Given the description of an element on the screen output the (x, y) to click on. 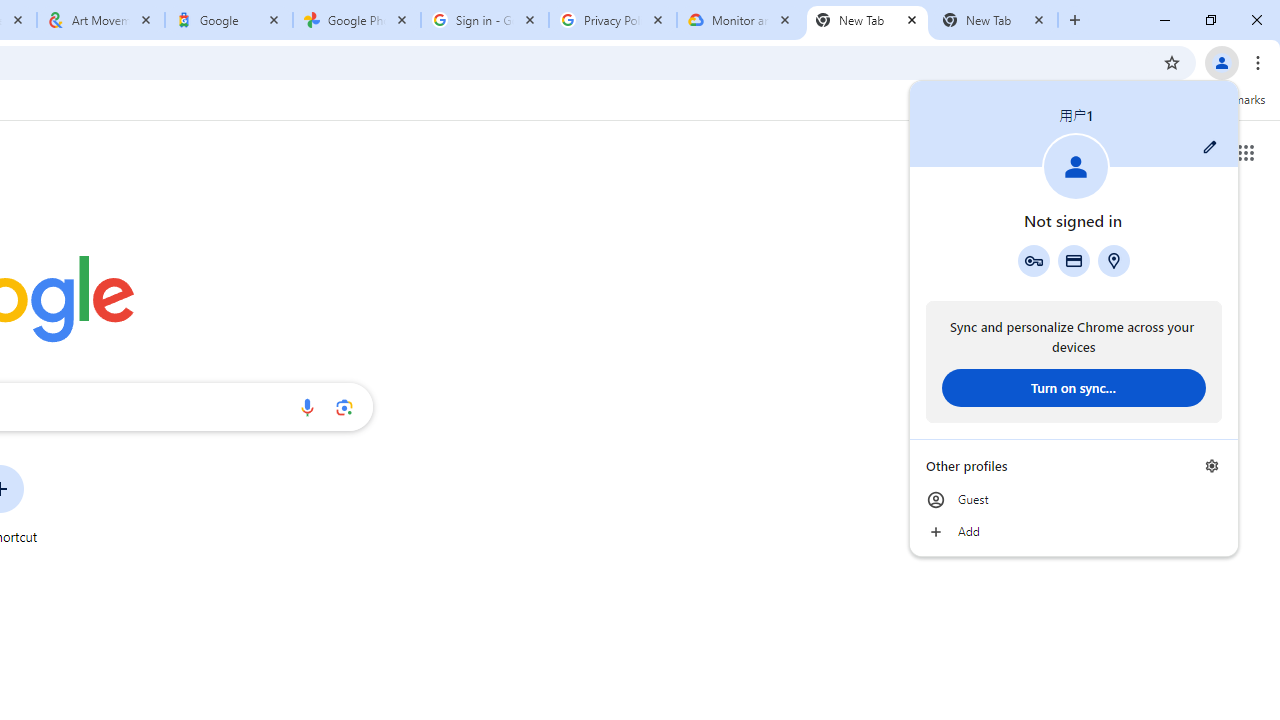
New Tab (866, 20)
Google Password Manager (1033, 260)
Payment methods (1074, 260)
Addresses and more (1114, 260)
Guest (1073, 499)
Add (1073, 531)
